Given the description of an element on the screen output the (x, y) to click on. 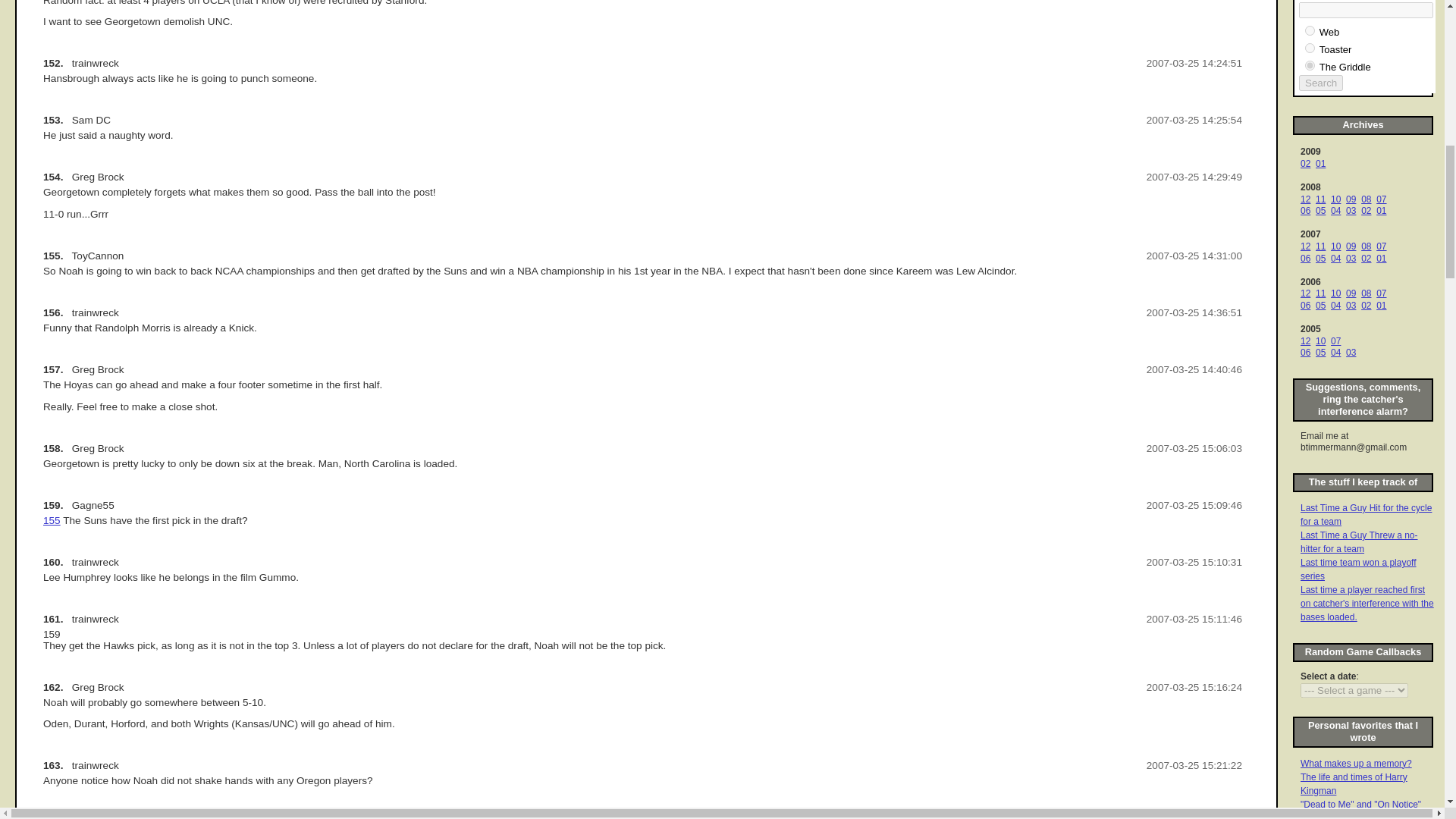
griddle.baseballtoaster.com (1309, 65)
11 (1320, 199)
12 (1305, 199)
01 (1320, 163)
08 (1366, 199)
10 (1335, 199)
09 (1350, 199)
Search (1320, 82)
02 (1305, 163)
baseballtoaster.com (1309, 48)
